Given the description of an element on the screen output the (x, y) to click on. 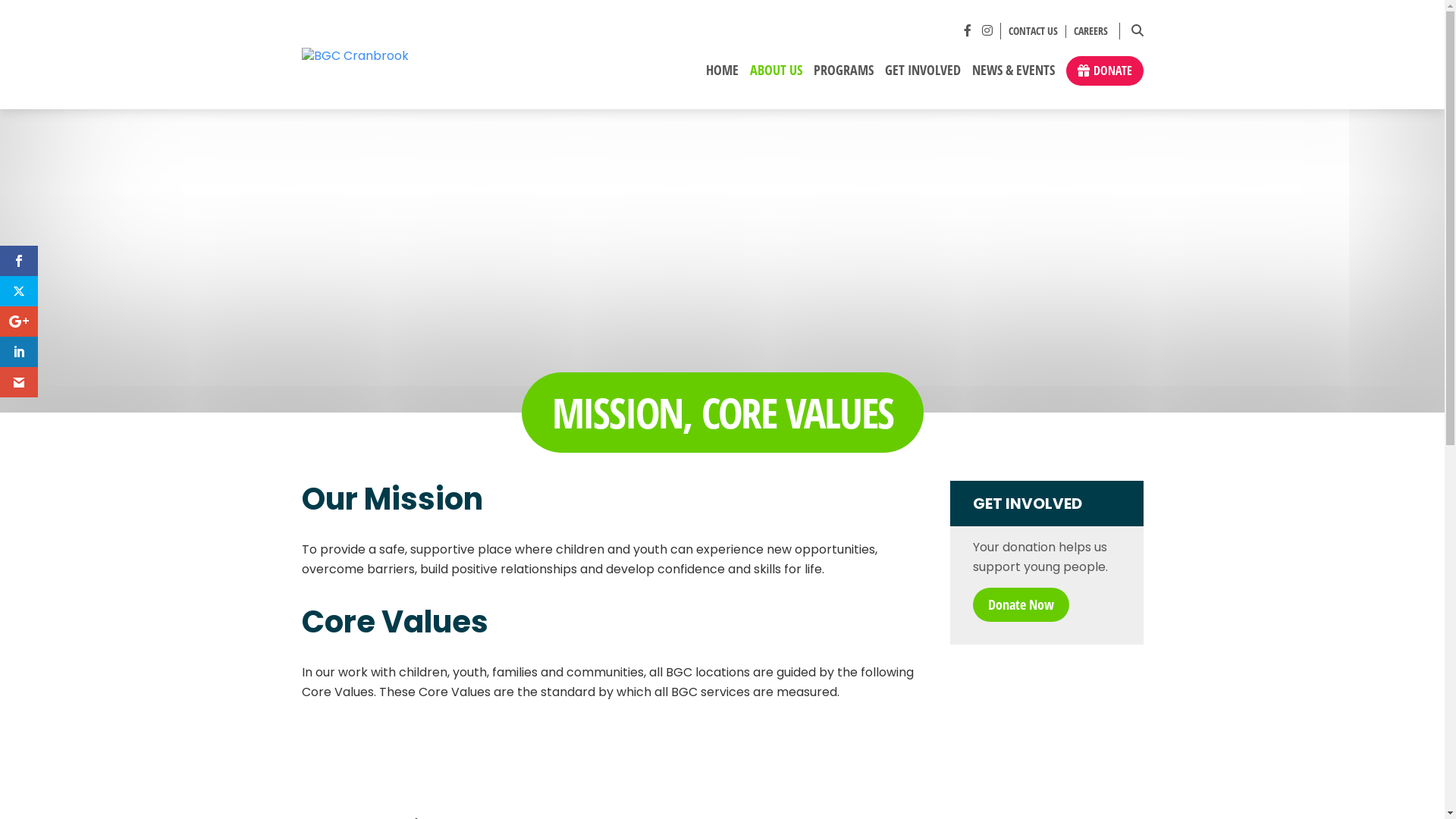
PROGRAMS Element type: text (842, 76)
HOME Element type: text (721, 76)
CAREERS Element type: text (1086, 31)
GET INVOLVED Element type: text (922, 76)
NEWS & EVENTS Element type: text (1013, 76)
Donate Now Element type: text (1020, 604)
DONATE Element type: text (1104, 70)
ABOUT US Element type: text (775, 76)
CONTACT US Element type: text (1033, 31)
